Given the description of an element on the screen output the (x, y) to click on. 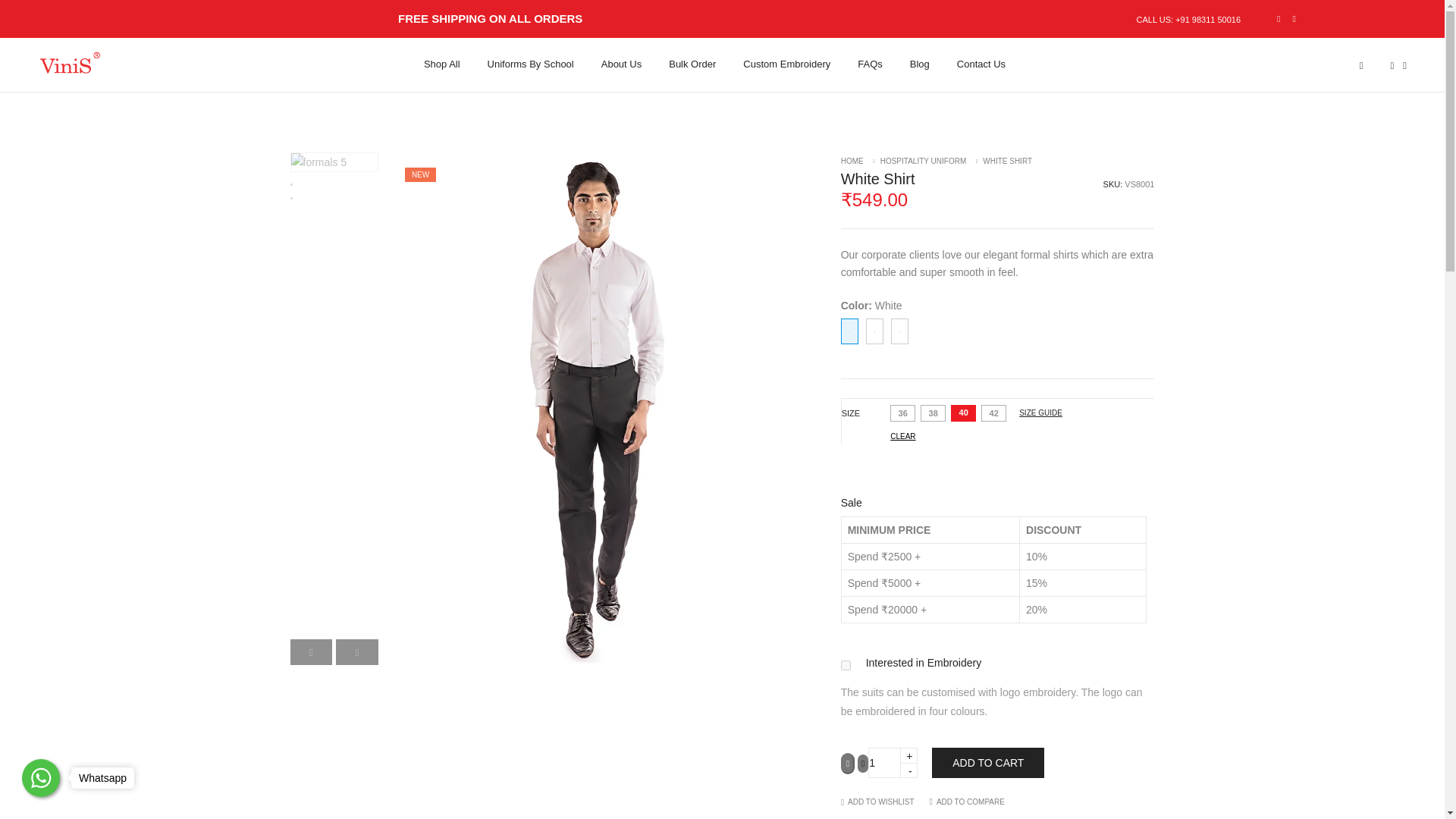
Bulk Order (692, 63)
m2yco (845, 665)
HOSPITALITY UNIFORM (923, 161)
Contact Us (974, 63)
Custom Embroidery (786, 63)
1 (892, 762)
Blog (919, 63)
Uniforms By School (531, 63)
- (908, 769)
HOME (852, 161)
